Given the description of an element on the screen output the (x, y) to click on. 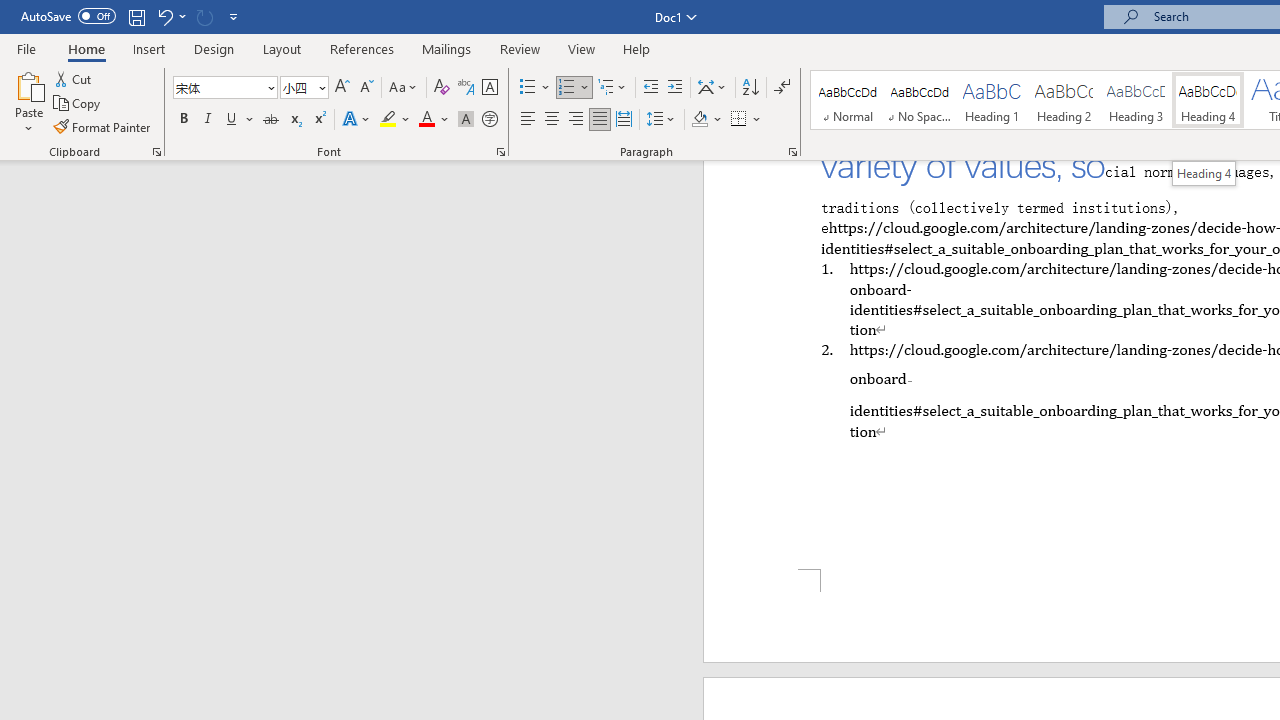
View (582, 48)
Character Border (489, 87)
Increase Indent (675, 87)
Paste (28, 84)
Character Shading (465, 119)
Font... (500, 151)
Can't Repeat (204, 15)
Paragraph... (792, 151)
Heading 4 (1208, 100)
Bullets (535, 87)
Bullets (527, 87)
Multilevel List (613, 87)
Copy (78, 103)
Superscript (319, 119)
